Given the description of an element on the screen output the (x, y) to click on. 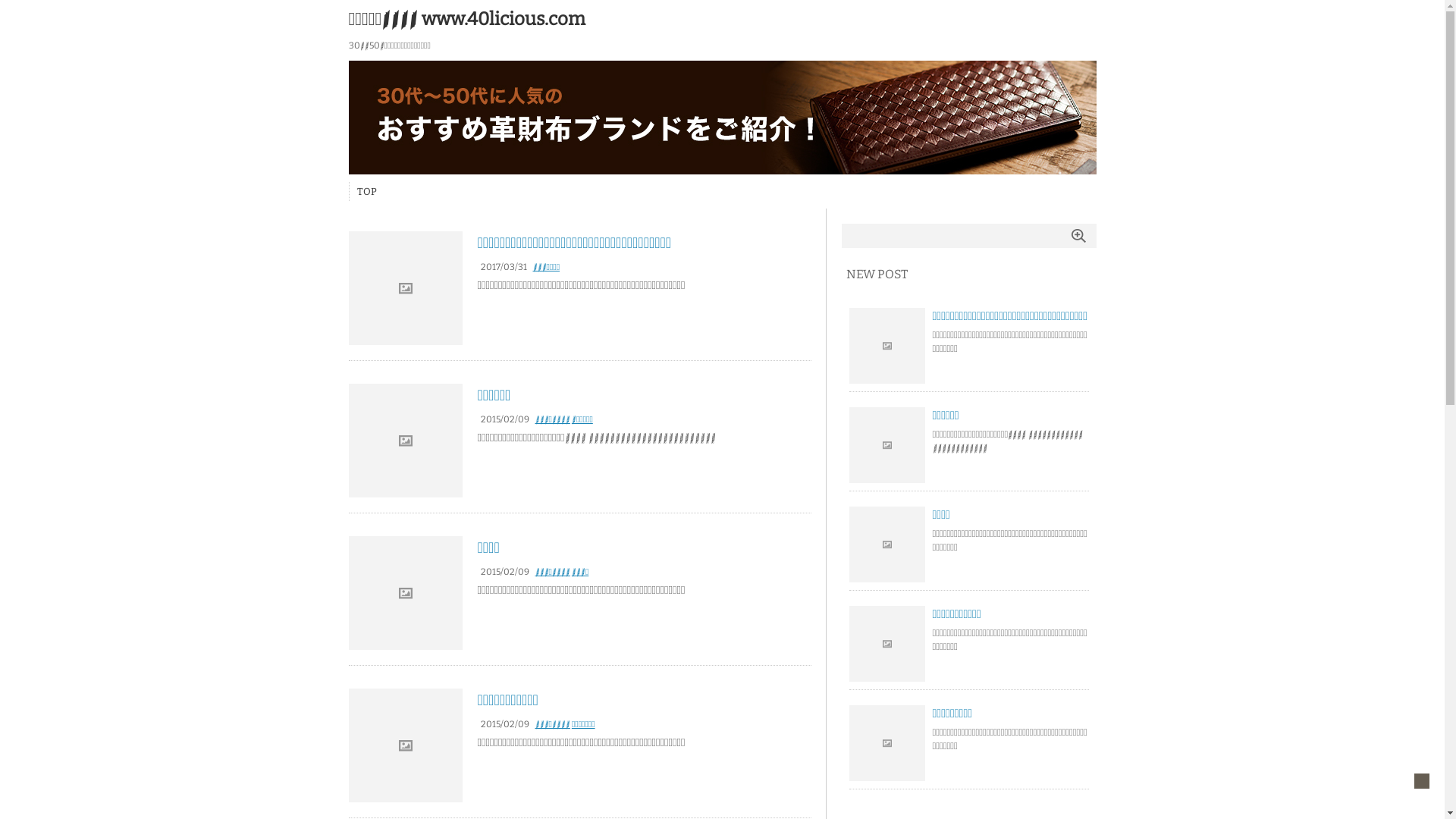
TOP Element type: text (366, 191)
no image Element type: hover (887, 643)
no image Element type: hover (887, 445)
no image Element type: hover (887, 544)
no image Element type: hover (887, 345)
no image Element type: hover (405, 592)
no image Element type: hover (887, 743)
no image Element type: hover (405, 288)
no image Element type: hover (405, 440)
no image Element type: hover (405, 745)
